Given the description of an element on the screen output the (x, y) to click on. 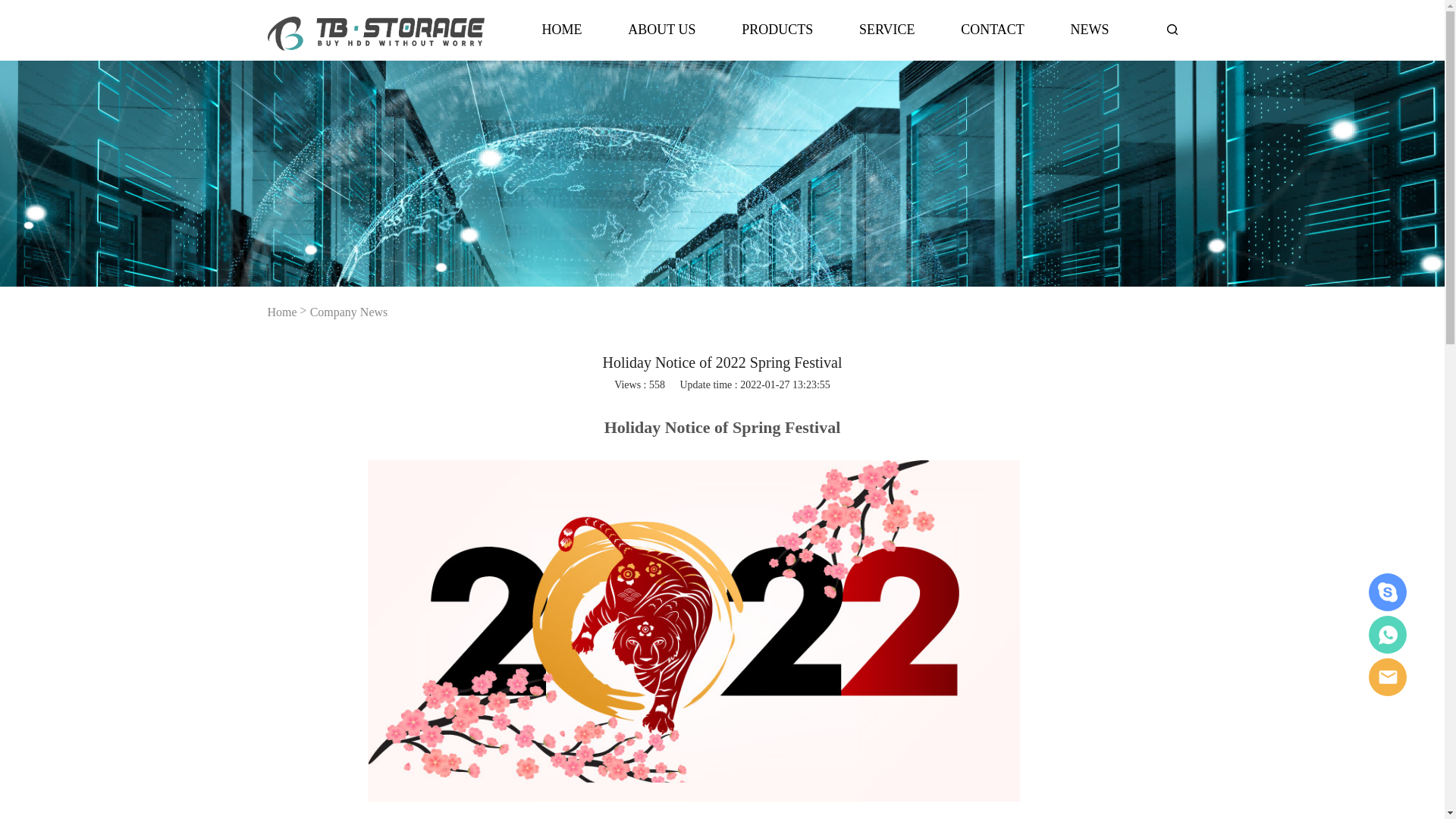
About Us (661, 38)
Contact (992, 38)
Products (776, 38)
Search (1118, 101)
HOME (561, 38)
Service (887, 38)
ABOUT US (661, 38)
Home (561, 38)
